Given the description of an element on the screen output the (x, y) to click on. 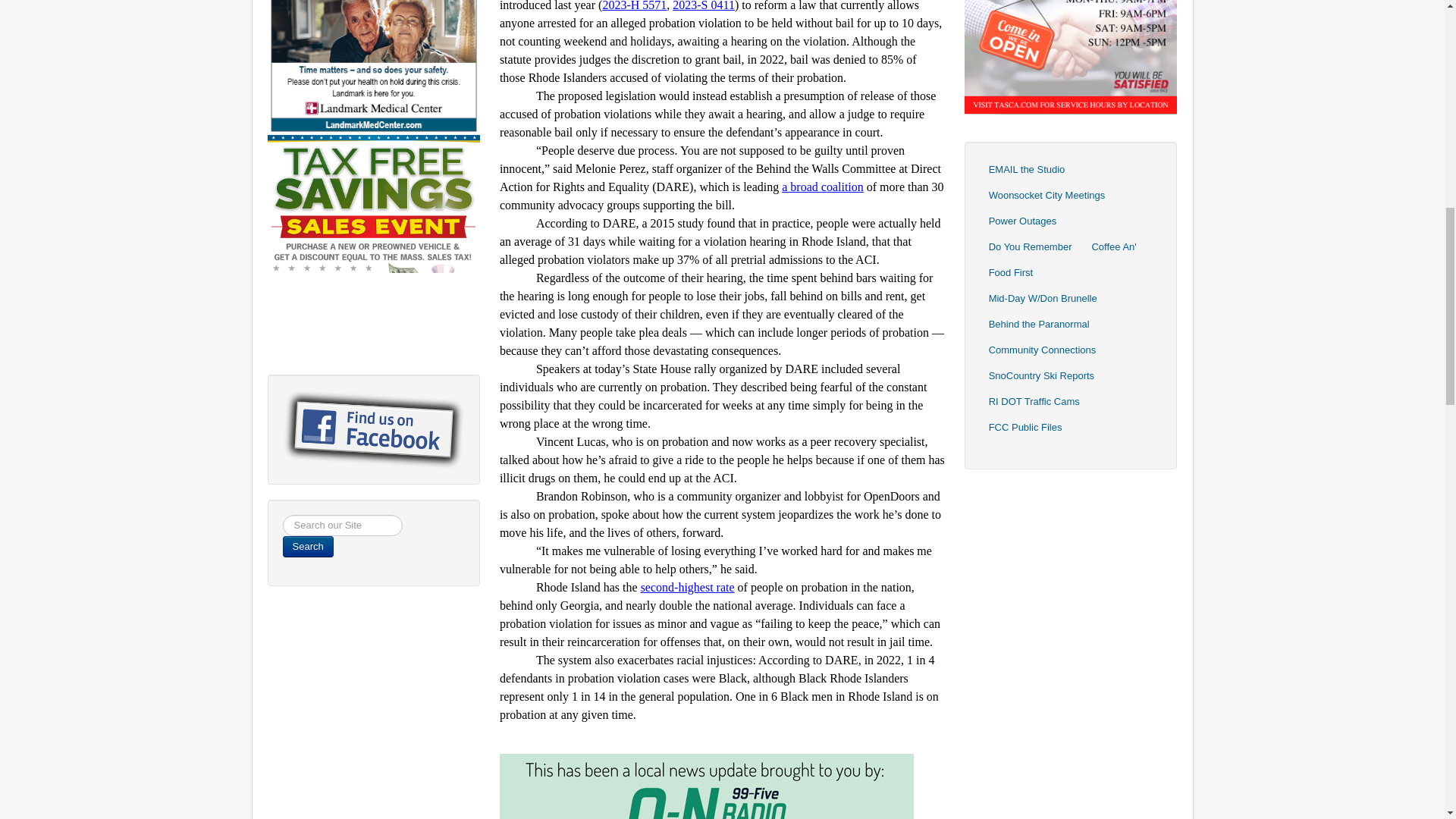
Search (307, 546)
2023-S 0411 (703, 5)
a broad coalition (822, 187)
second-highest rate (687, 587)
Tasca (1070, 21)
Landmark Medical Center (373, 43)
Imperial Cars (373, 239)
2023-H 5571 (634, 5)
